Given the description of an element on the screen output the (x, y) to click on. 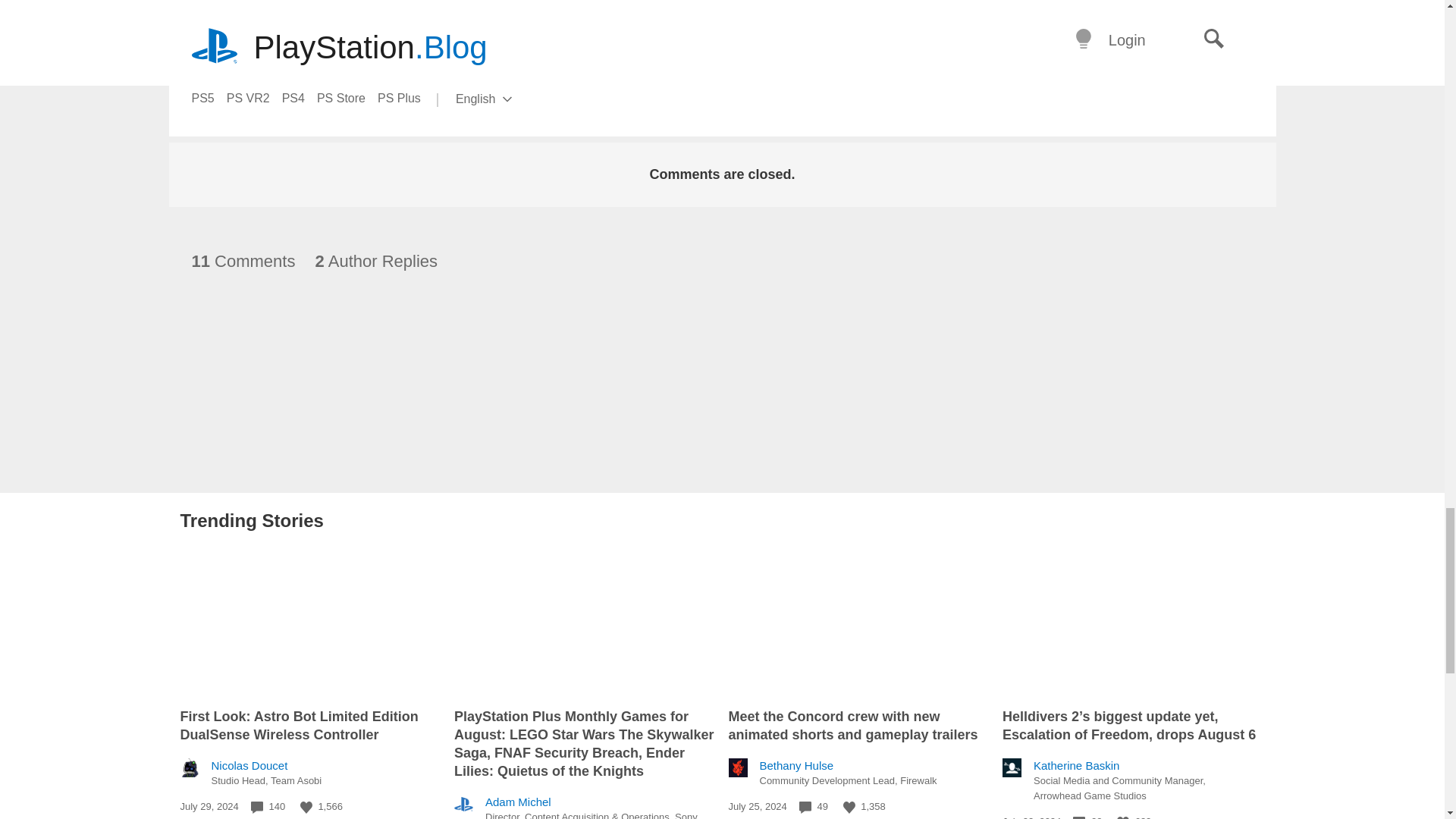
Like this (849, 807)
Like this (306, 807)
